Given the description of an element on the screen output the (x, y) to click on. 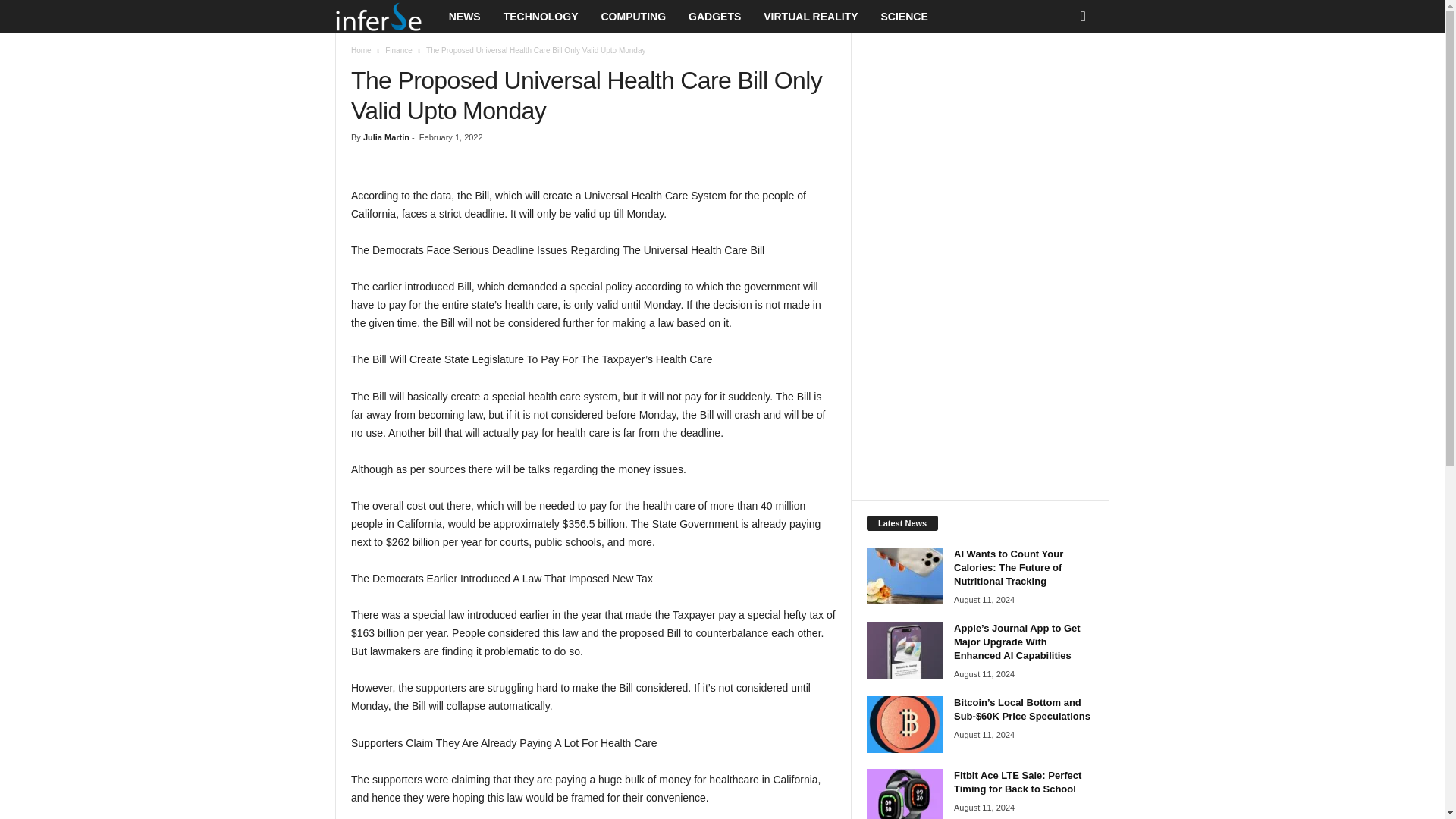
SCIENCE (904, 16)
Home (360, 49)
Inferse (378, 16)
Julia Martin (385, 136)
NEWS (465, 16)
View all posts in Finance (398, 49)
Inferse.com (386, 17)
COMPUTING (633, 16)
VIRTUAL REALITY (810, 16)
GADGETS (714, 16)
